Given the description of an element on the screen output the (x, y) to click on. 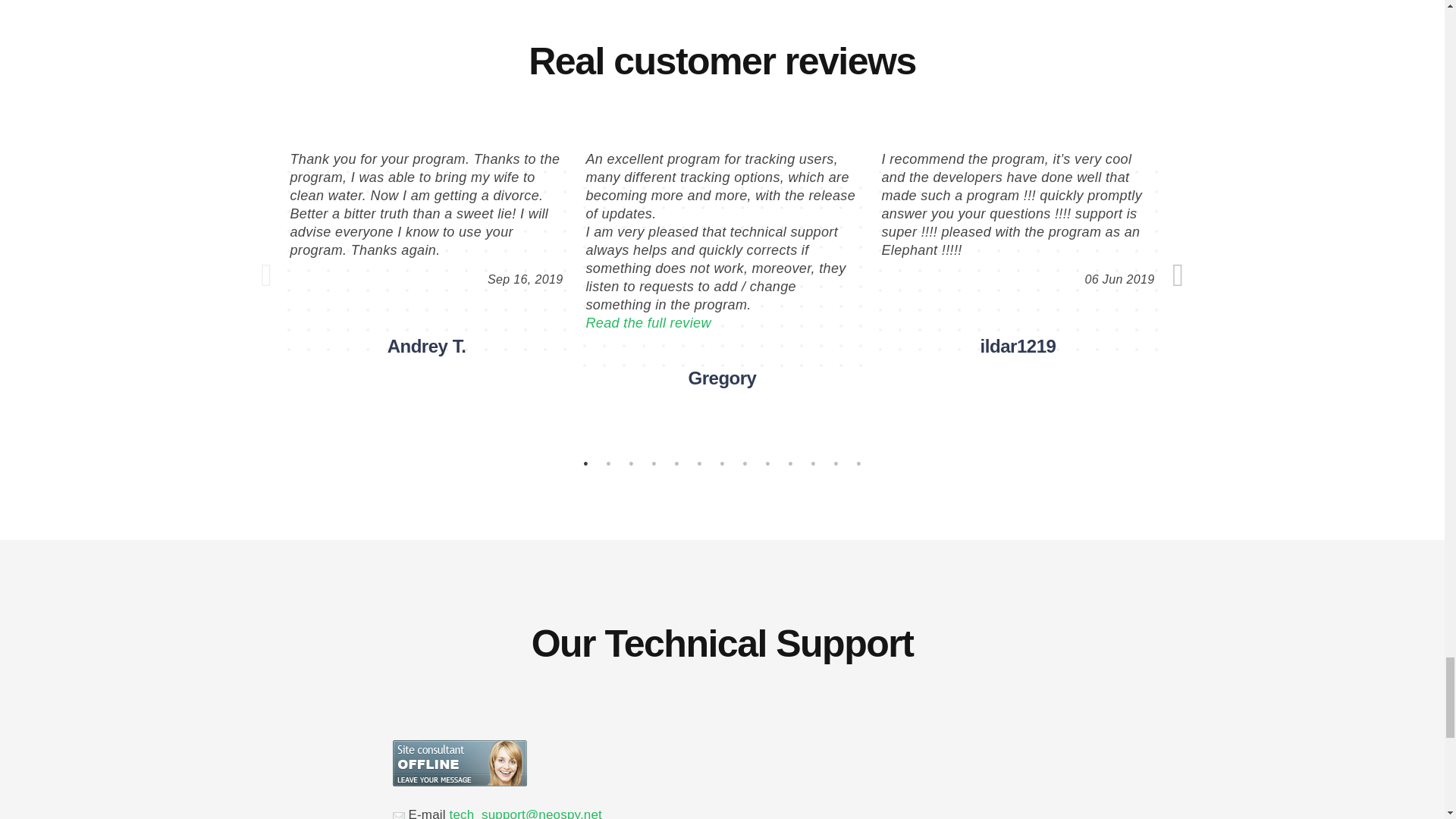
4 (653, 463)
Read the full review (647, 322)
2 (607, 463)
5 (676, 463)
Previous (267, 275)
Next (1178, 275)
6 (698, 463)
3 (631, 463)
1 (585, 463)
